Given the description of an element on the screen output the (x, y) to click on. 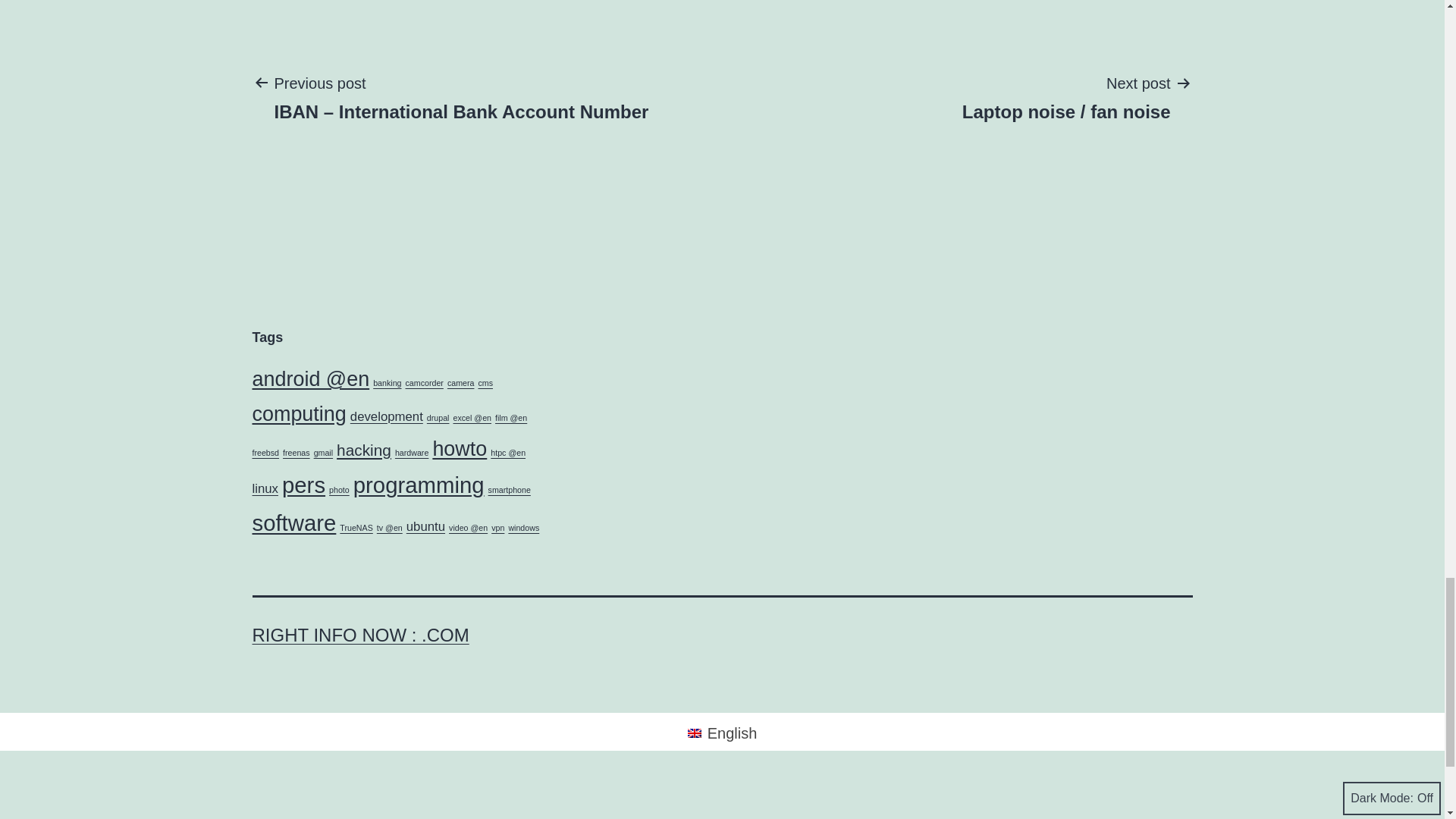
cms (485, 382)
Advertisement (455, 796)
smartphone (509, 489)
vpn (497, 527)
banking (386, 382)
freenas (296, 452)
programming (418, 484)
linux (264, 488)
software (293, 522)
drupal (437, 417)
